Given the description of an element on the screen output the (x, y) to click on. 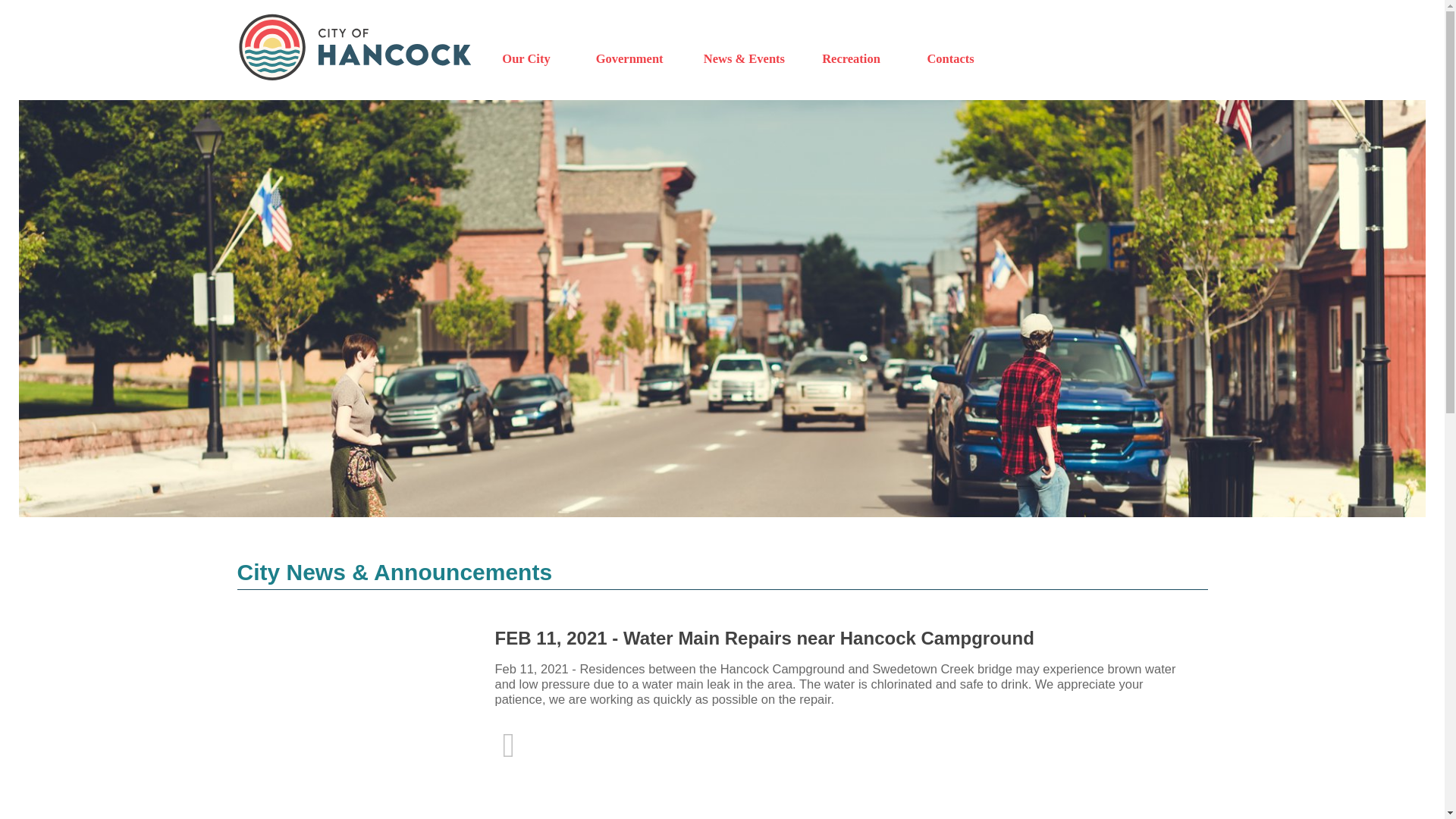
BACK (508, 752)
CONTACT (950, 58)
news (743, 58)
city (526, 58)
recreation (851, 58)
governance (629, 58)
